Given the description of an element on the screen output the (x, y) to click on. 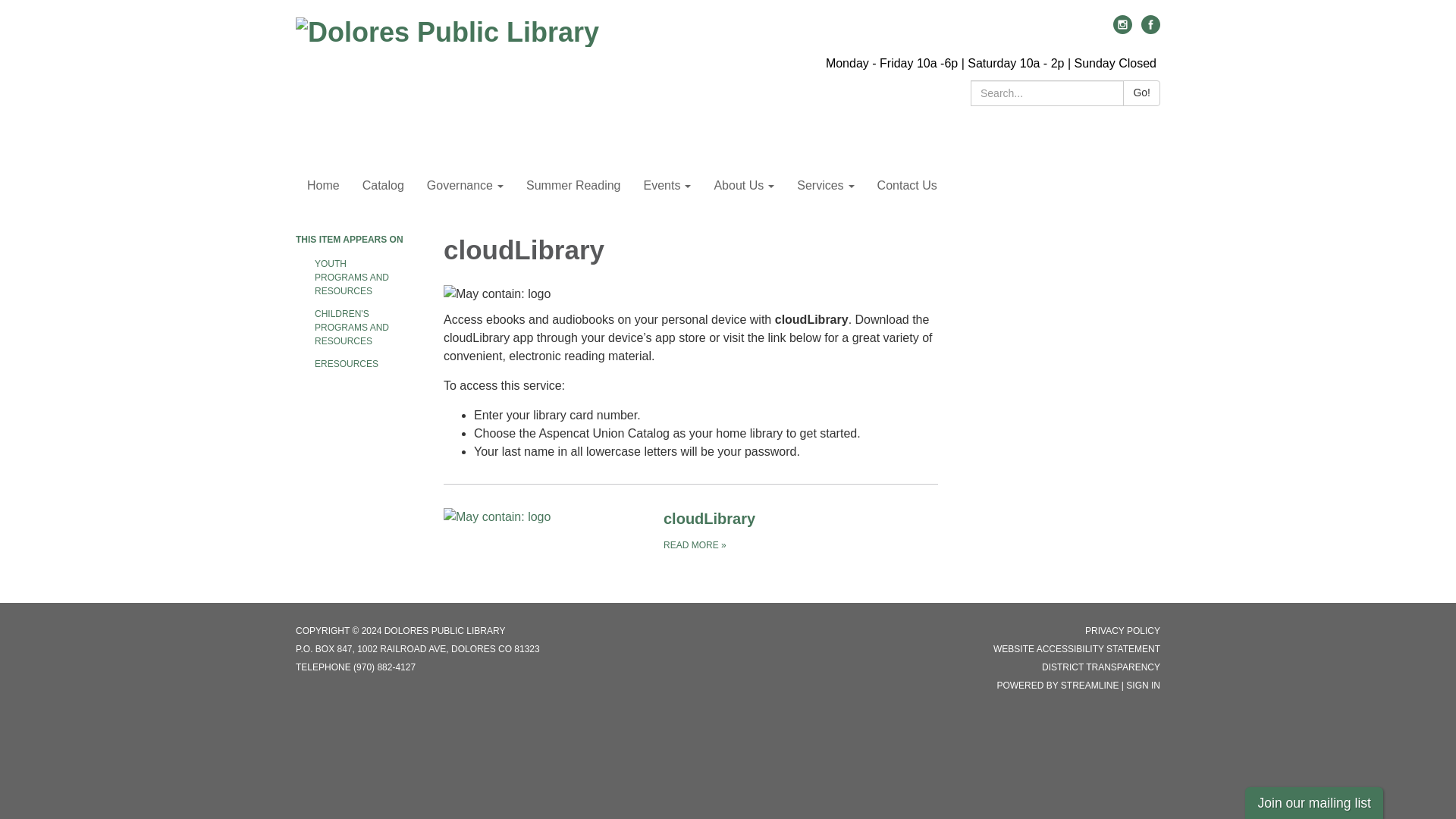
Summer Reading (573, 185)
Catalog (382, 185)
Streamline: Technology for Special Districts (1090, 685)
Go! (1141, 93)
Governance (464, 185)
About Us (743, 185)
Services (825, 185)
Home (322, 185)
Special District Transparency Report (1101, 666)
Events (667, 185)
